Given the description of an element on the screen output the (x, y) to click on. 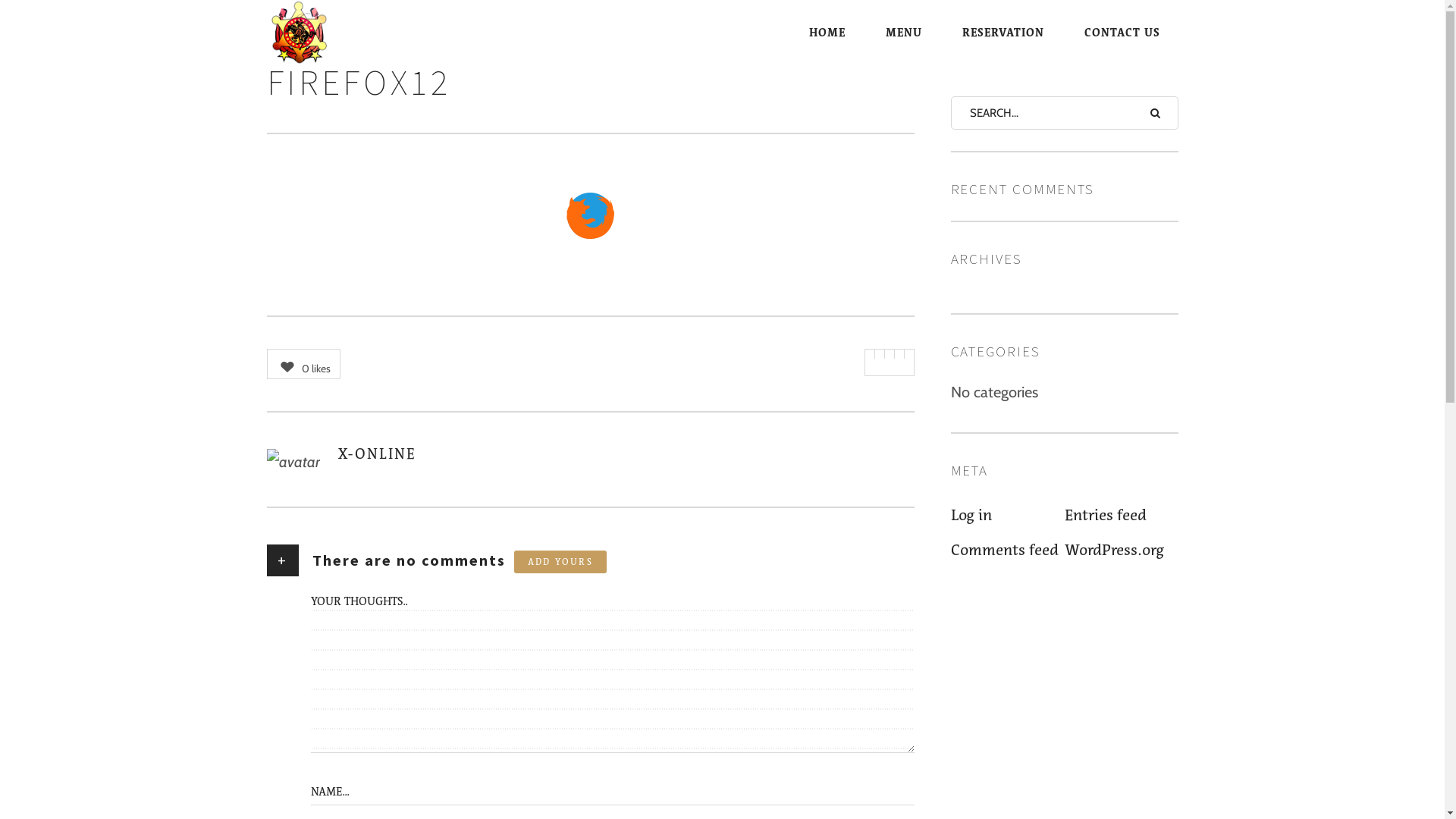
HOME Element type: text (826, 32)
ADD YOURS Element type: text (560, 561)
MENU Element type: text (903, 32)
CONTACT US Element type: text (1122, 32)
X-ONLINE Element type: text (377, 453)
WordPress.org Element type: text (1121, 549)
RESERVATION Element type: text (1002, 32)
Cowboy Thai Dee Why Restaurant Element type: hover (331, 32)
Comments feed Element type: text (1007, 549)
Log in Element type: text (1007, 514)
Entries feed Element type: text (1121, 514)
